Given the description of an element on the screen output the (x, y) to click on. 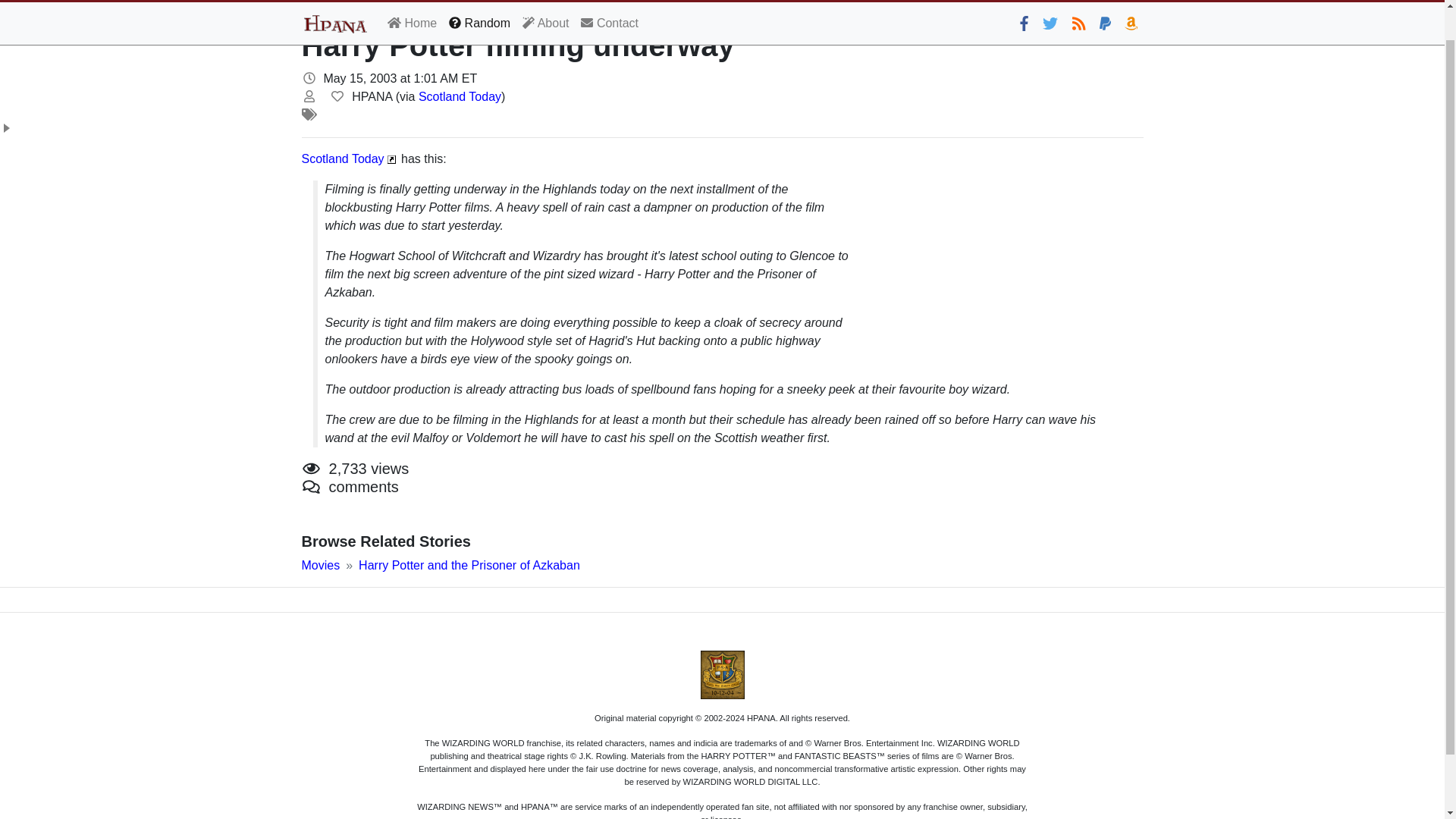
Movies (320, 564)
Support HPANA for free (1131, 1)
The feed that started it all (1078, 1)
Published (309, 78)
HPANA is the recipient of J.K. Rowling's Fan Site Award (722, 674)
Author (309, 96)
Advertisement (1003, 255)
Source (337, 96)
Contact (610, 2)
Tags (309, 114)
Why couldn't it be 'follow the butterflies?!' (1050, 1)
Harry Potter and the Prisoner of Azkaban (468, 564)
Zuck will know if you don't click this (1024, 1)
Published (309, 78)
Scotland Today (342, 158)
